Given the description of an element on the screen output the (x, y) to click on. 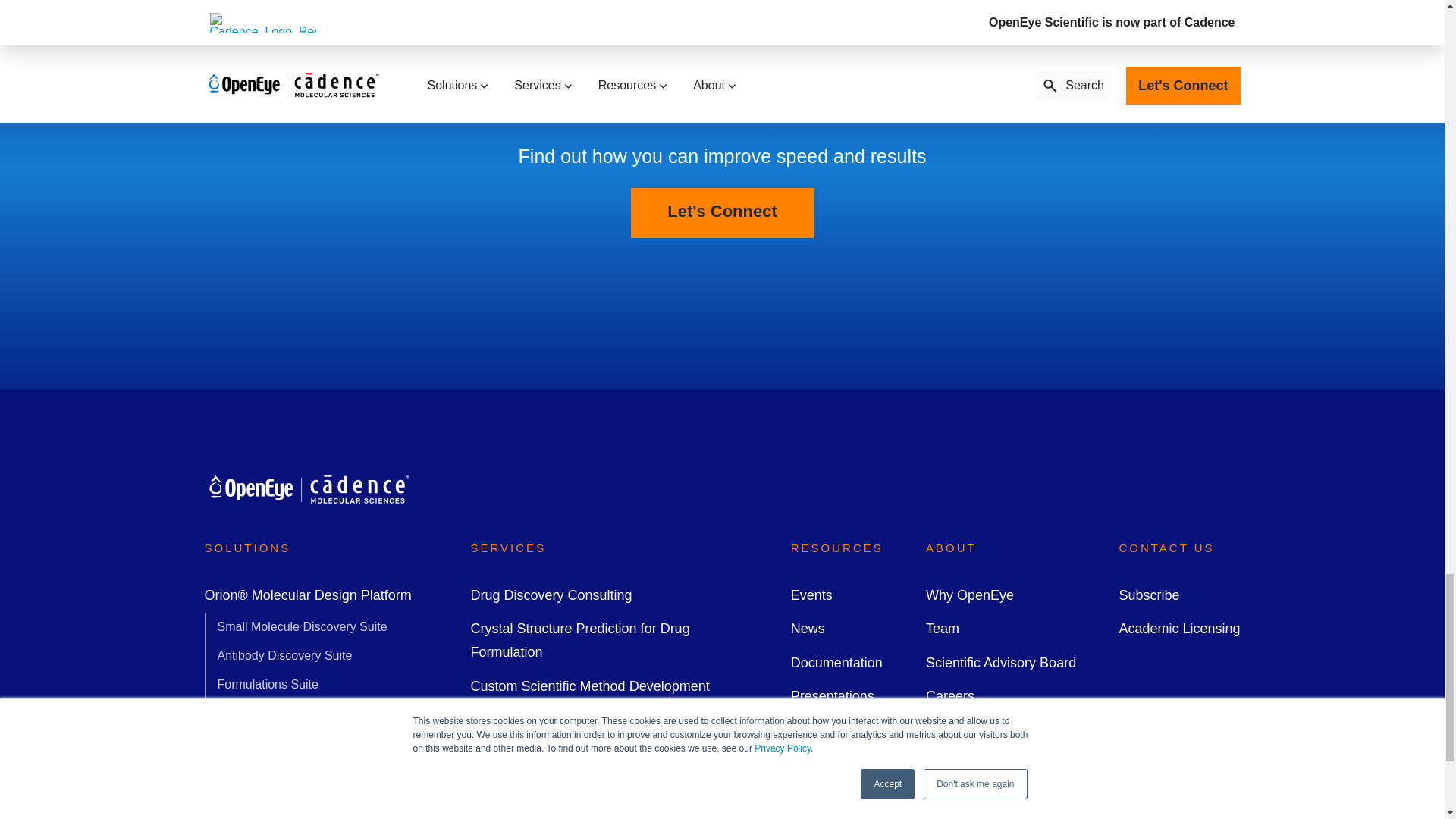
Horizontal-OpenEye-Cadence-all-white-2024-01 (308, 488)
